Given the description of an element on the screen output the (x, y) to click on. 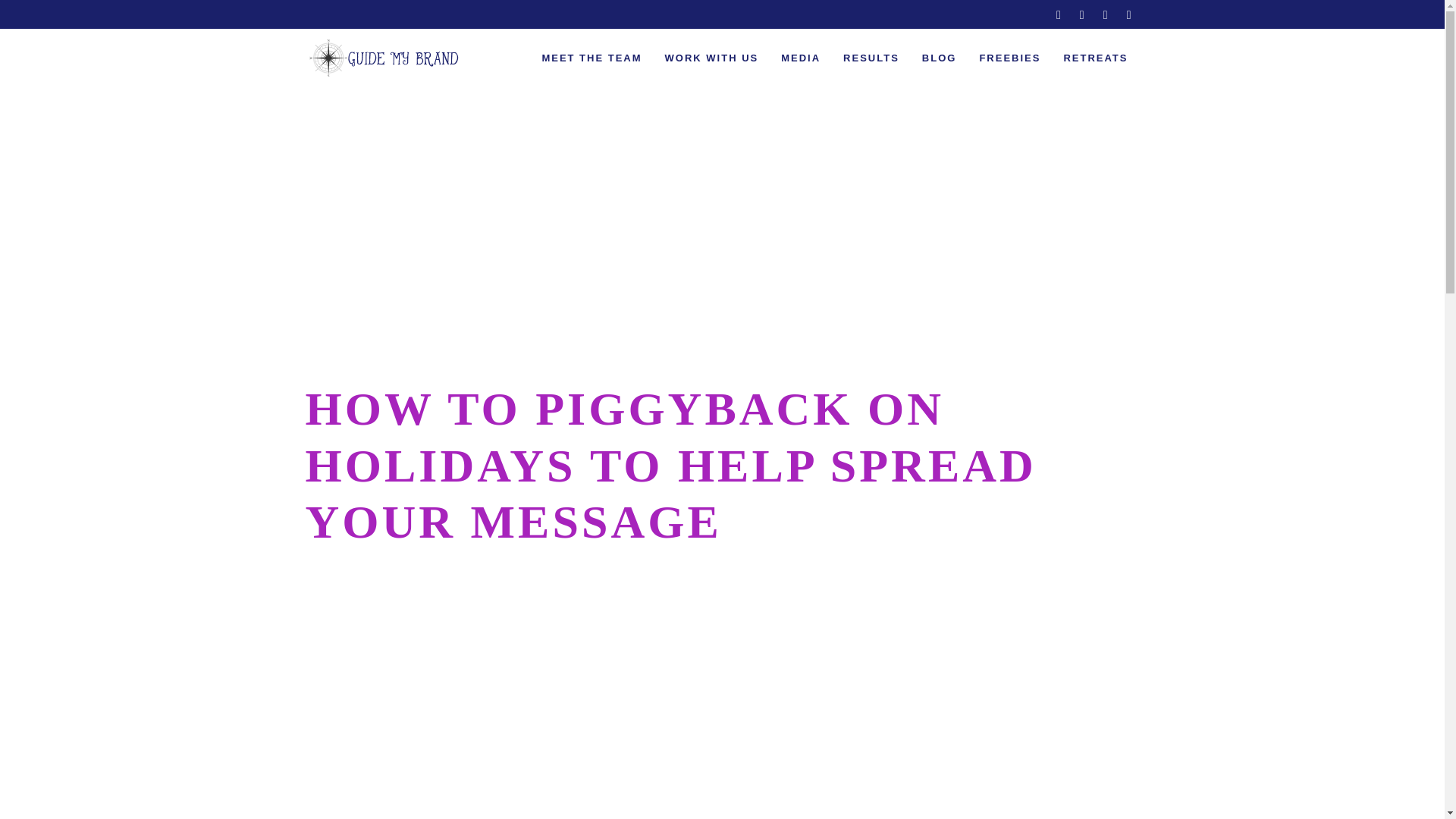
WORK WITH US (711, 57)
BLOG (939, 57)
RETREATS (1094, 57)
MEET THE TEAM (590, 57)
MEDIA (800, 57)
FREEBIES (1009, 57)
RESULTS (871, 57)
